Given the description of an element on the screen output the (x, y) to click on. 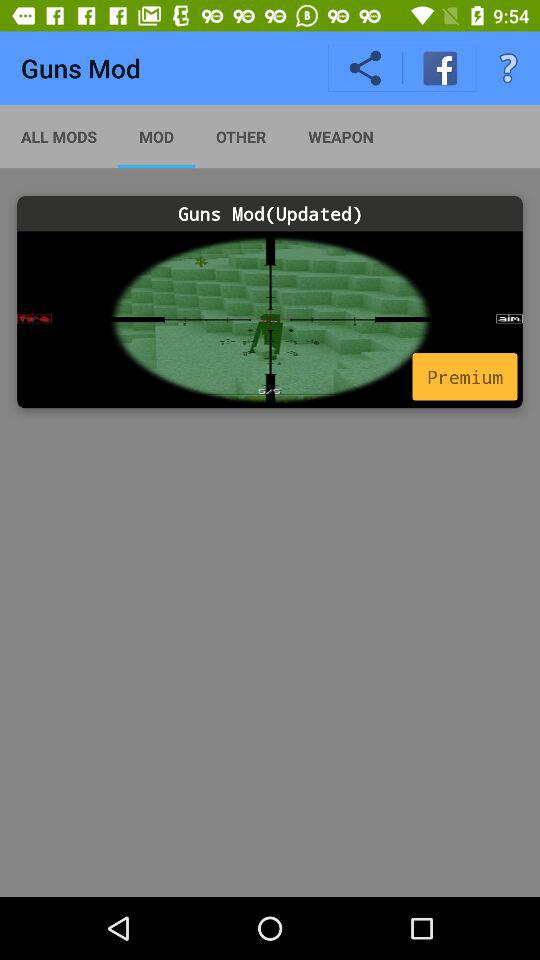
access premium mod content (269, 319)
